Given the description of an element on the screen output the (x, y) to click on. 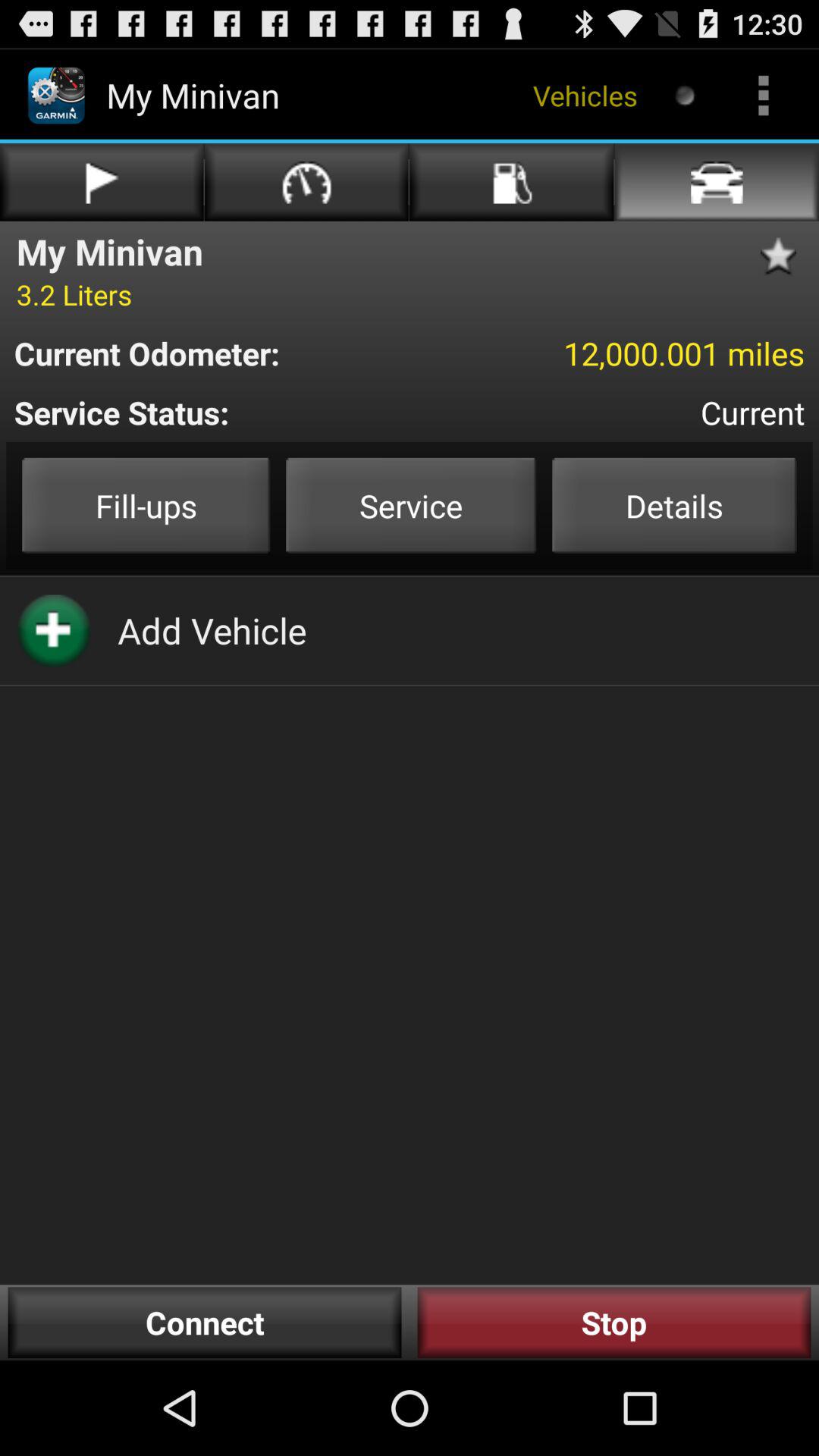
tap icon above the 12 000 001 (783, 256)
